Given the description of an element on the screen output the (x, y) to click on. 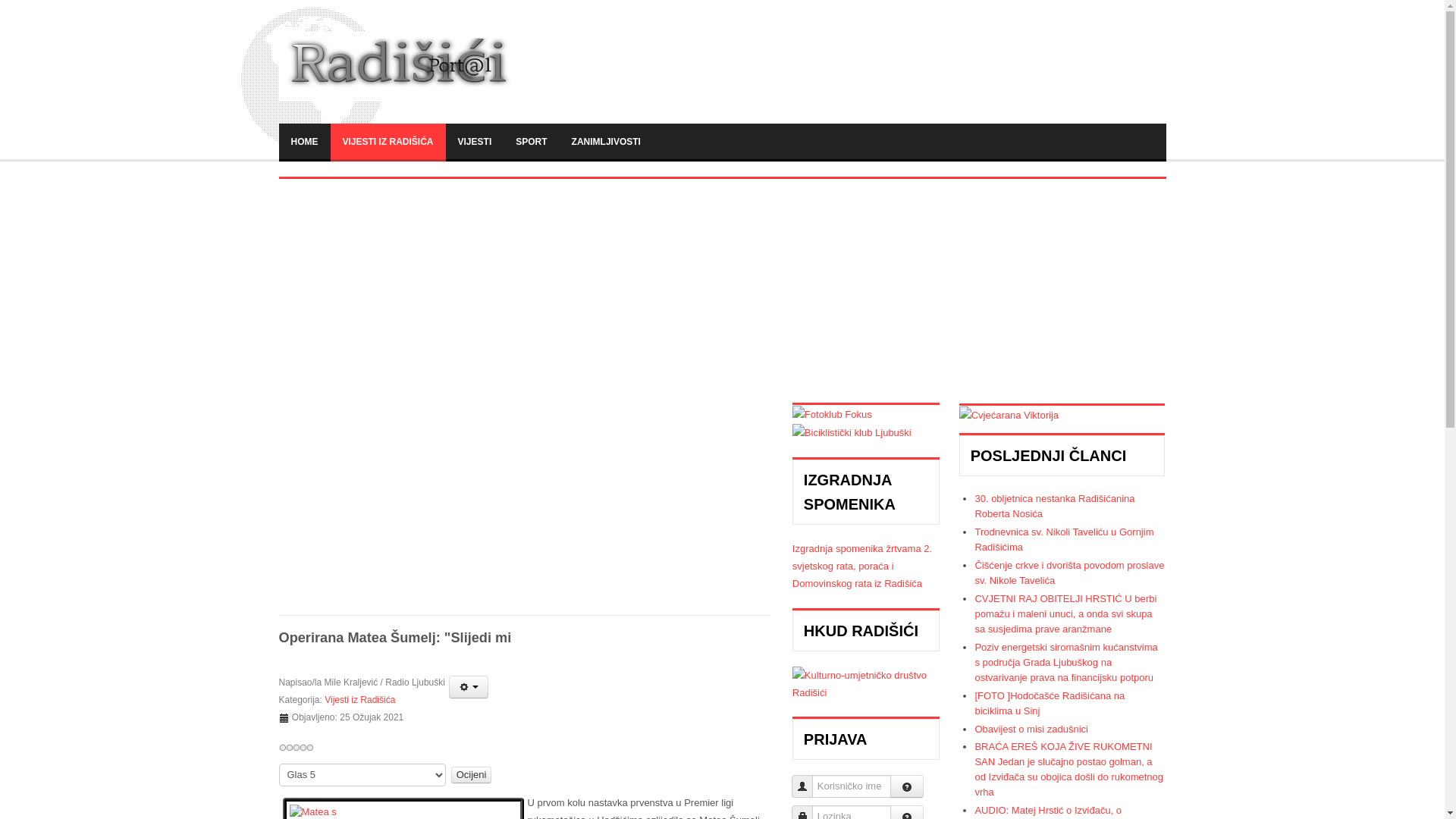
ZANIMLJIVOSTI Element type: text (605, 141)
Viktorija Element type: hover (1008, 414)
VIJESTI Element type: text (474, 141)
HOME Element type: text (304, 141)
Ocijeni Element type: text (471, 774)
SPORT Element type: text (530, 141)
